Given the description of an element on the screen output the (x, y) to click on. 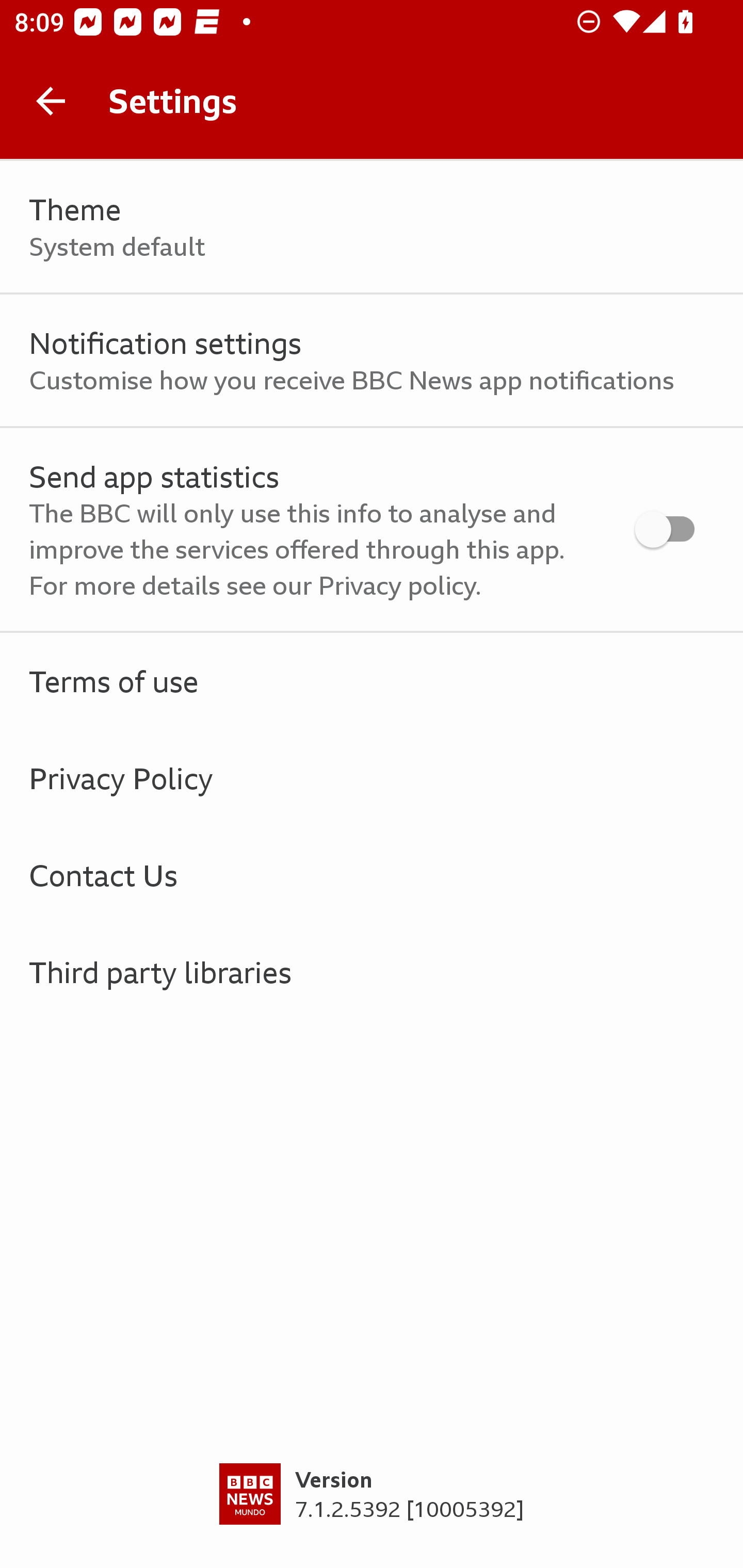
Back (50, 101)
Theme System default (371, 227)
Terms of use (371, 681)
Privacy Policy (371, 777)
Contact Us (371, 874)
Third party libraries (371, 971)
Version 7.1.2.5392 [10005392] (371, 1515)
